Given the description of an element on the screen output the (x, y) to click on. 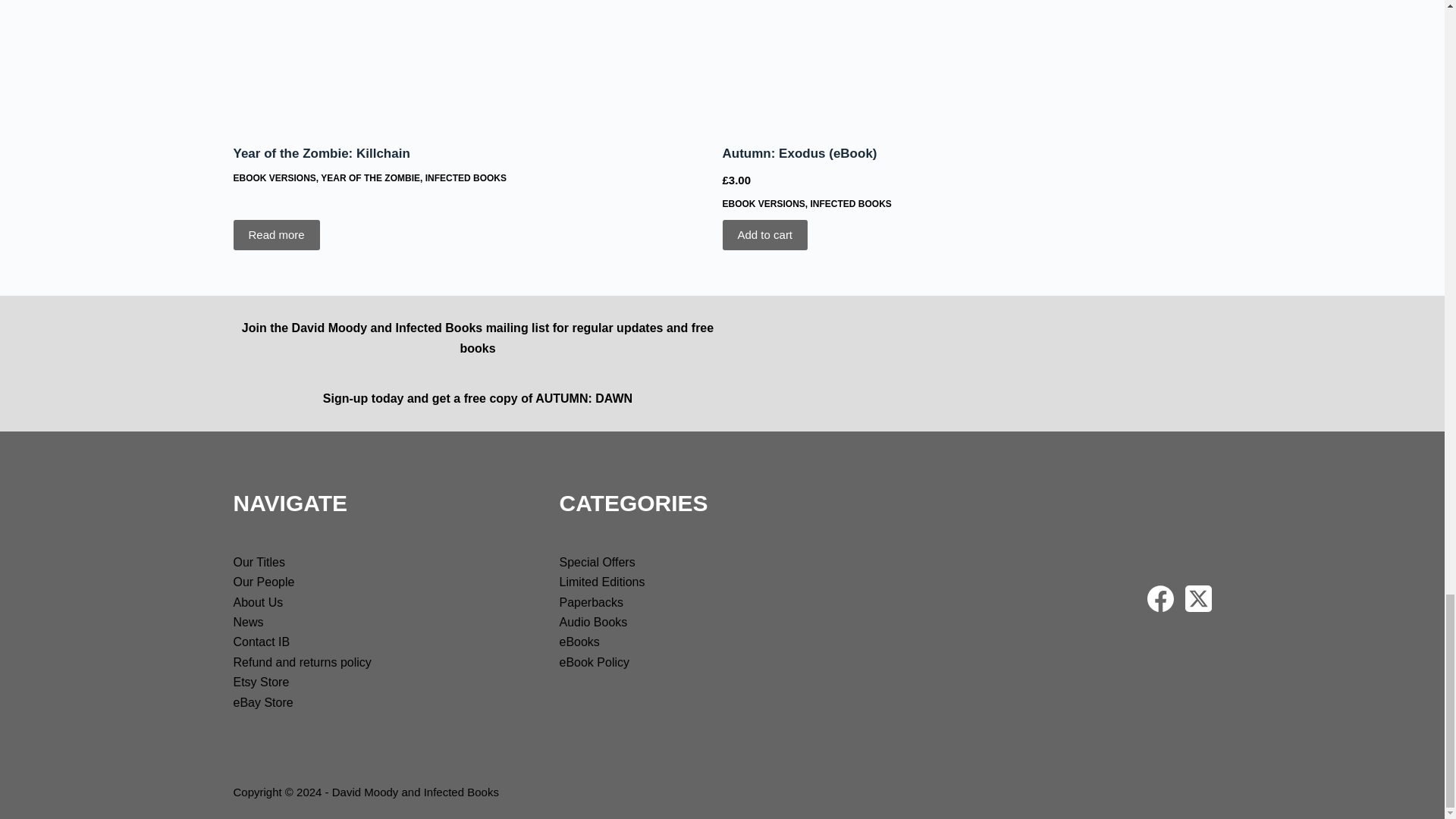
kc (477, 62)
exodus7 (966, 62)
